Given the description of an element on the screen output the (x, y) to click on. 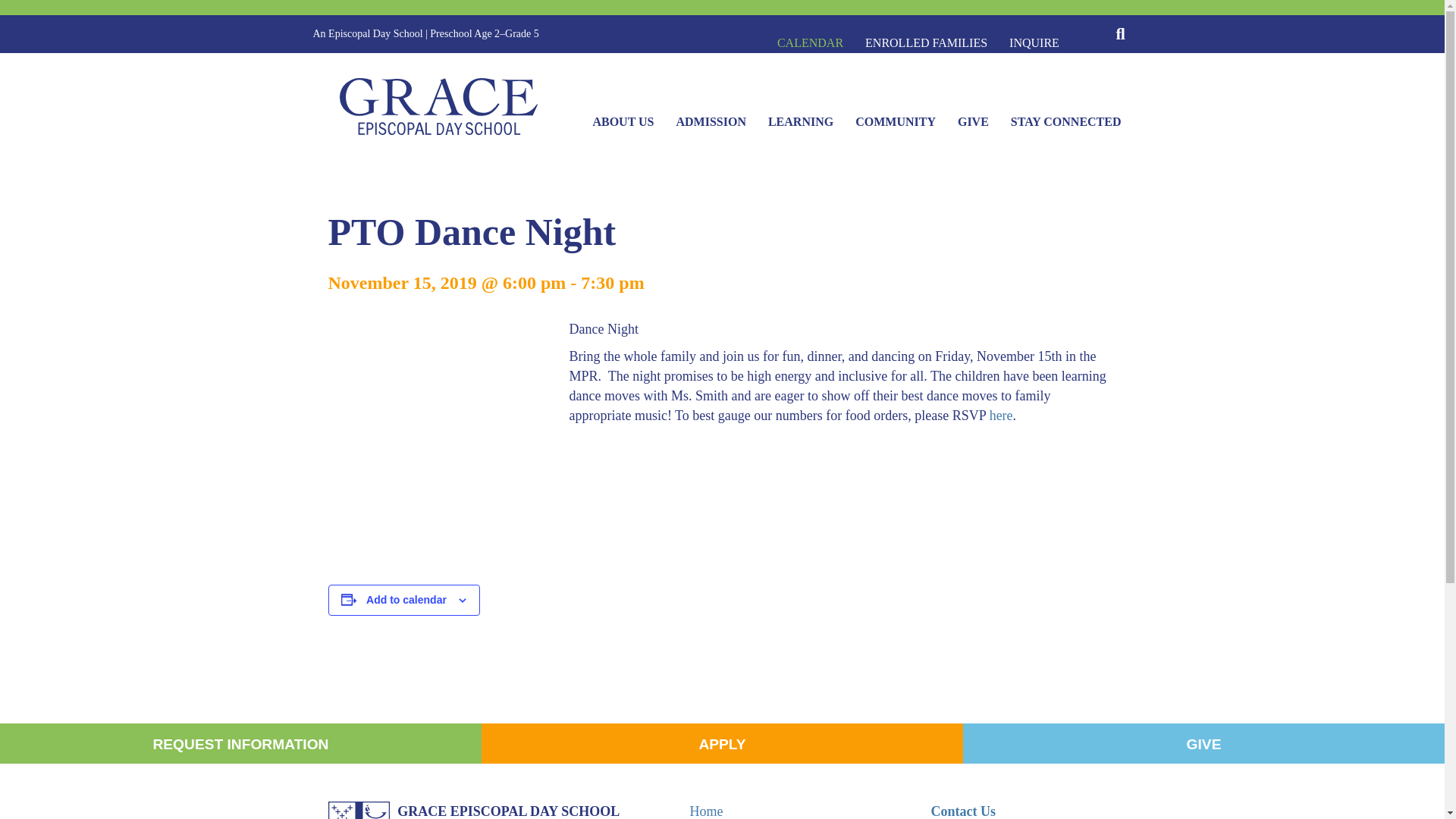
APPLY (721, 742)
GraceLogo (438, 106)
INQUIRE (1034, 42)
GIVE (1203, 742)
ENROLLED FAMILIES (925, 42)
LEARNING (800, 125)
ABOUT US (621, 125)
CALENDAR (810, 42)
REQUEST INFORMATION (240, 742)
ADMISSION (710, 125)
